Given the description of an element on the screen output the (x, y) to click on. 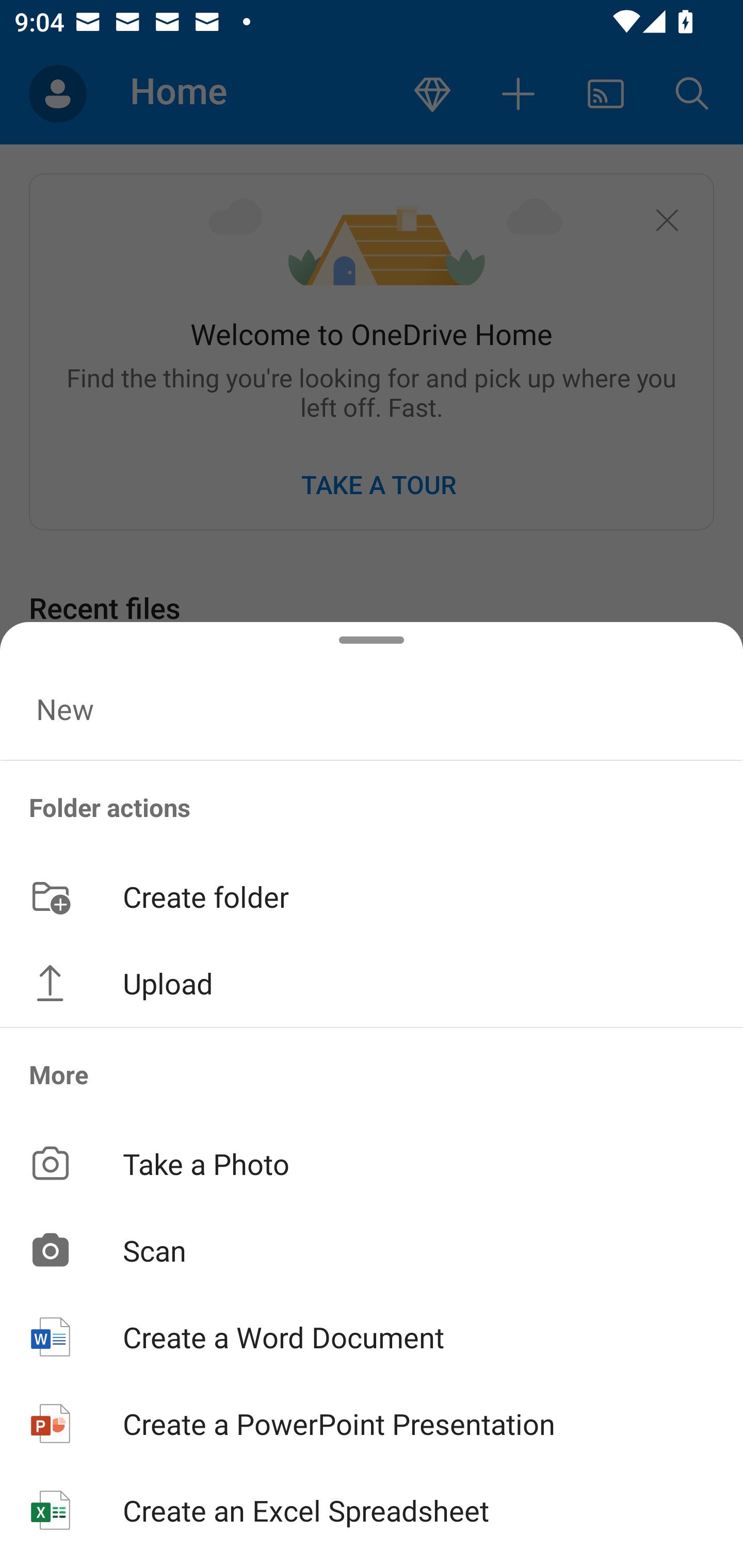
Create folder button Create folder (371, 895)
Upload button Upload (371, 983)
Take a Photo button Take a Photo (371, 1163)
Scan button Scan (371, 1250)
